Given the description of an element on the screen output the (x, y) to click on. 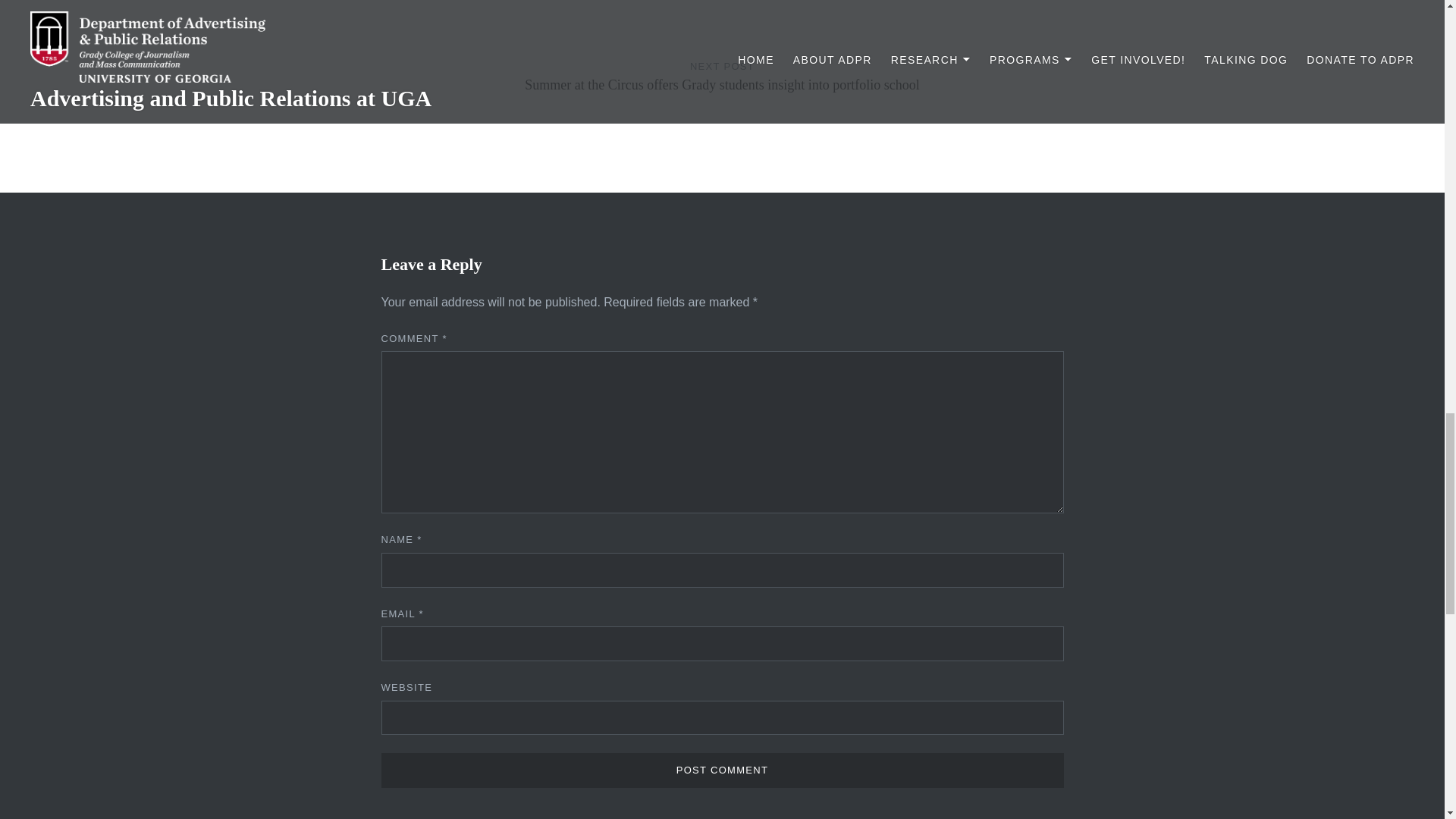
Post Comment (721, 769)
Post Comment (721, 769)
